Given the description of an element on the screen output the (x, y) to click on. 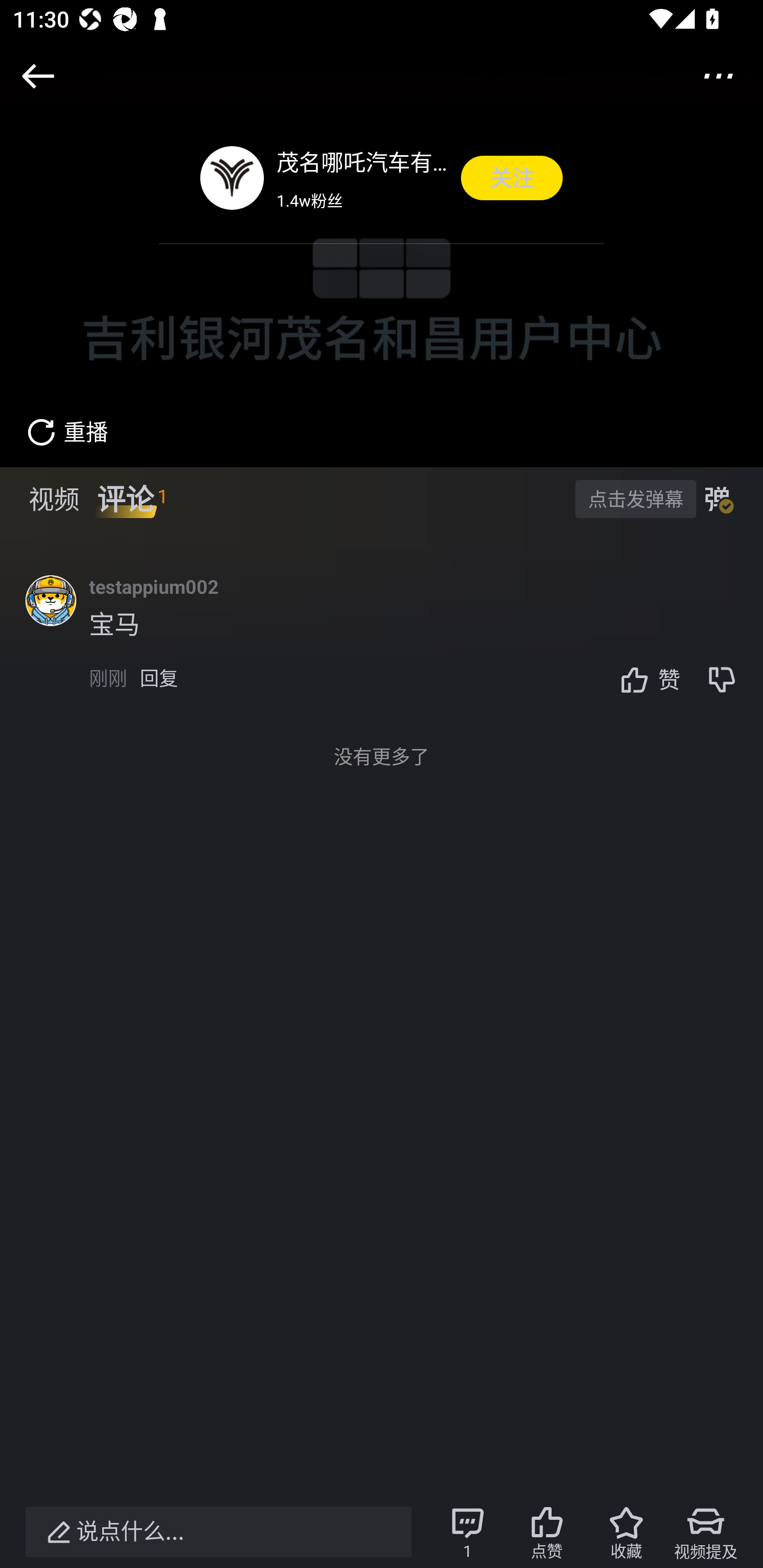
 (38, 75)
 (718, 75)
茂名哪吒汽车有限公司 1.4w粉丝 (362, 177)
关注 (511, 177)
 重播 (54, 442)
视频 (53, 499)
评论 1 (131, 499)
点击发弹幕 (635, 498)
testappium002 宝马 刚刚 回复 赞 (426, 644)
testappium002 (153, 586)
赞 (645, 678)
 1 (467, 1531)
点赞 (546, 1531)
收藏 (625, 1531)
 视频提及 (705, 1531)
 说点什么... (218, 1531)
